Given the description of an element on the screen output the (x, y) to click on. 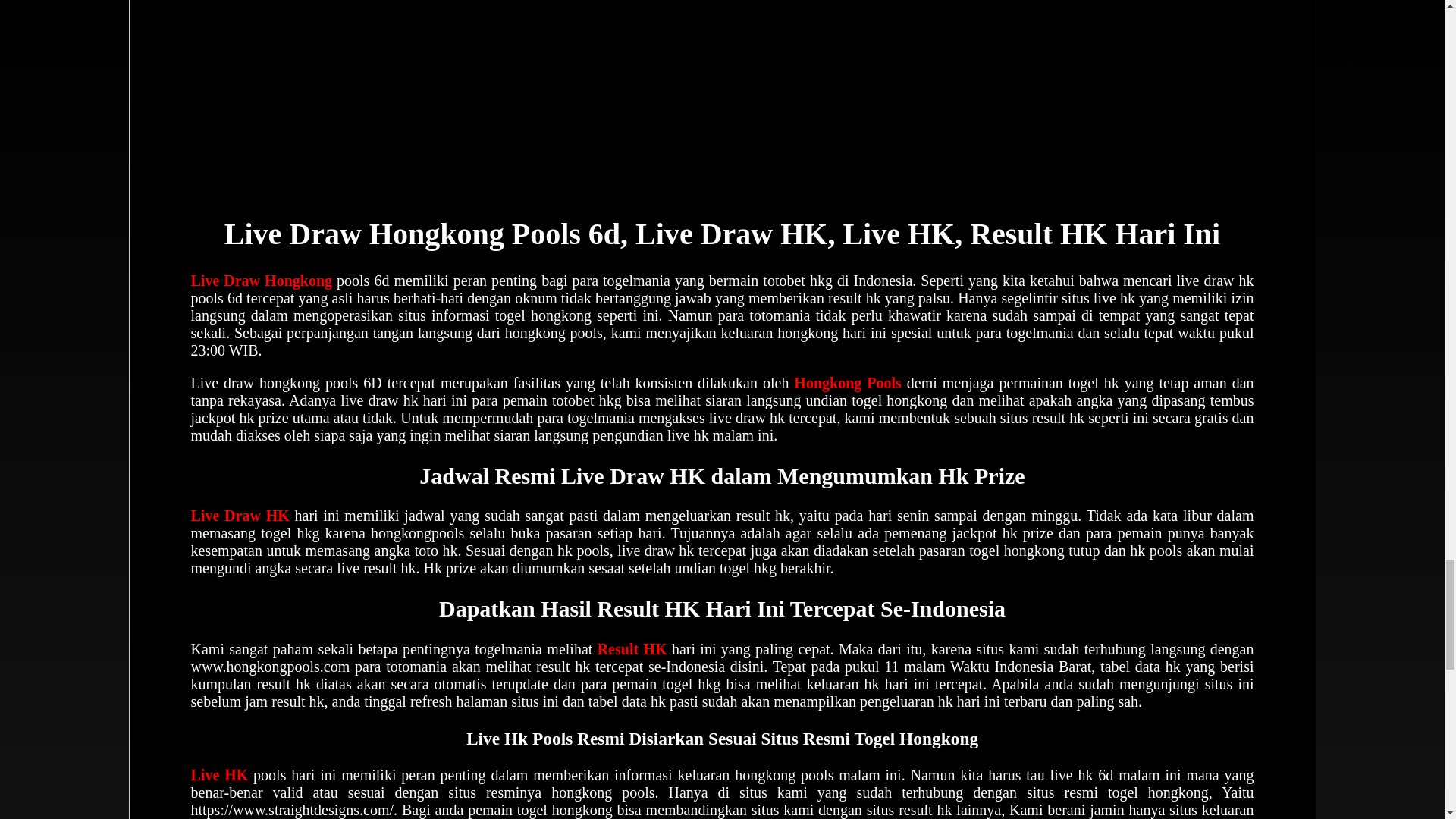
Live Draw HK (239, 515)
Result HK (631, 648)
Hongkong Pools (847, 382)
Live HK (219, 774)
Live Draw Hongkong (261, 280)
